Given the description of an element on the screen output the (x, y) to click on. 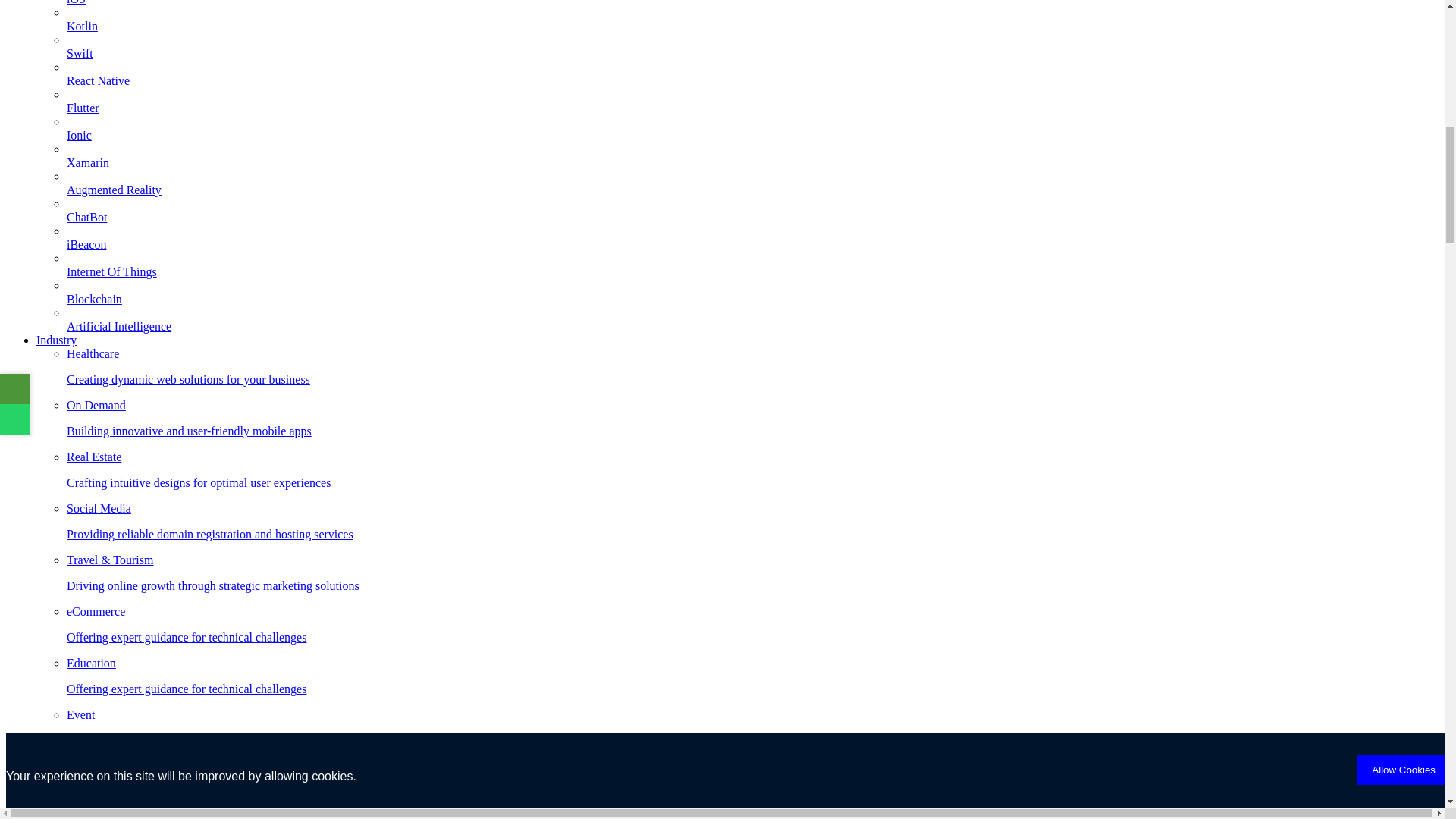
Flutter (752, 114)
Xamarin (752, 169)
Artificial Intelligence (752, 333)
iOS (752, 9)
Blockchain (752, 306)
Internet Of Things (752, 278)
Industry (56, 339)
Augmented Reality (752, 366)
Swift (752, 196)
Ionic (752, 60)
iBeacon (752, 418)
Kotlin (752, 142)
React Native (752, 251)
